Given the description of an element on the screen output the (x, y) to click on. 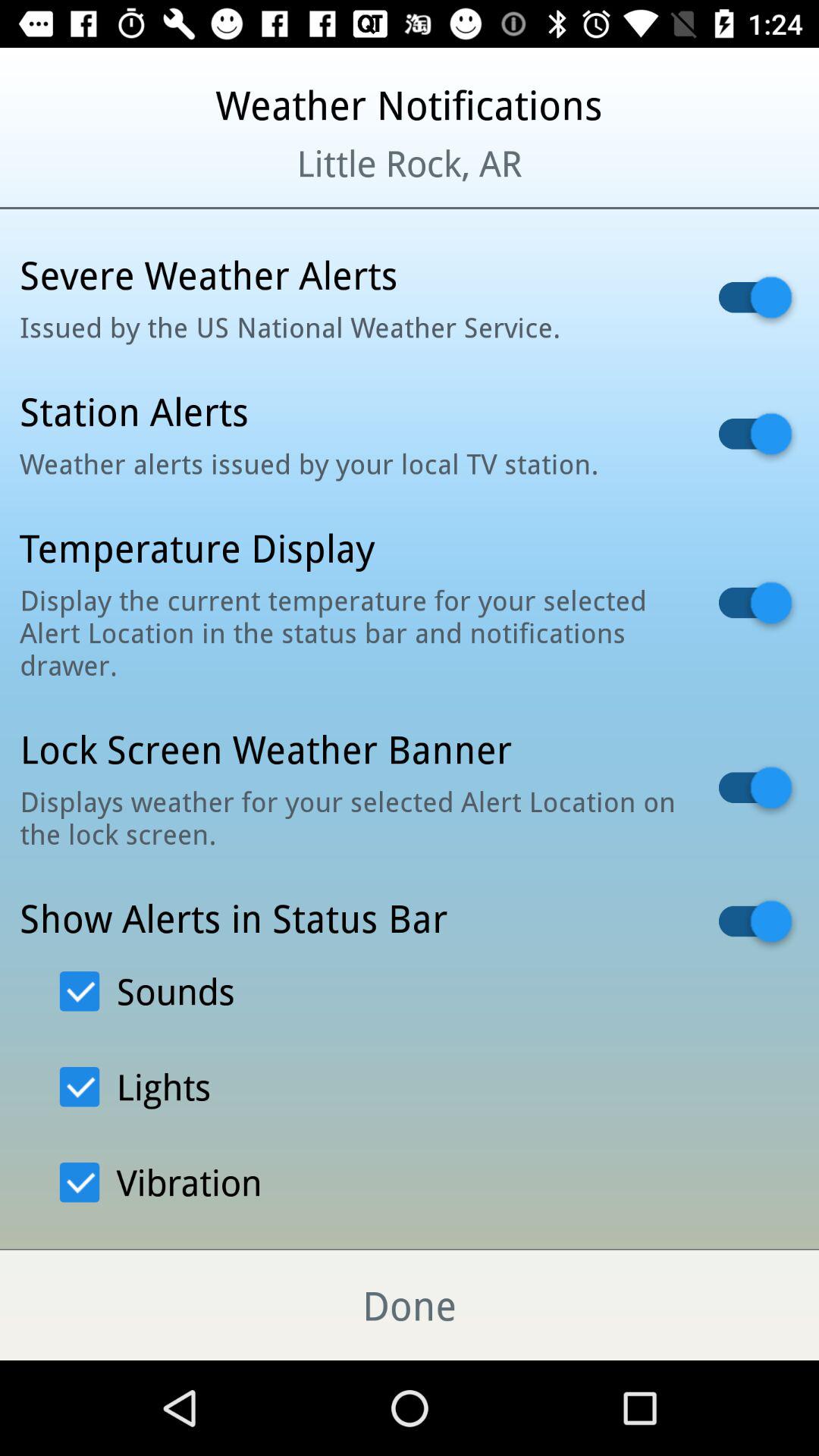
turn on the item next to little rock, ar item (99, 182)
